Given the description of an element on the screen output the (x, y) to click on. 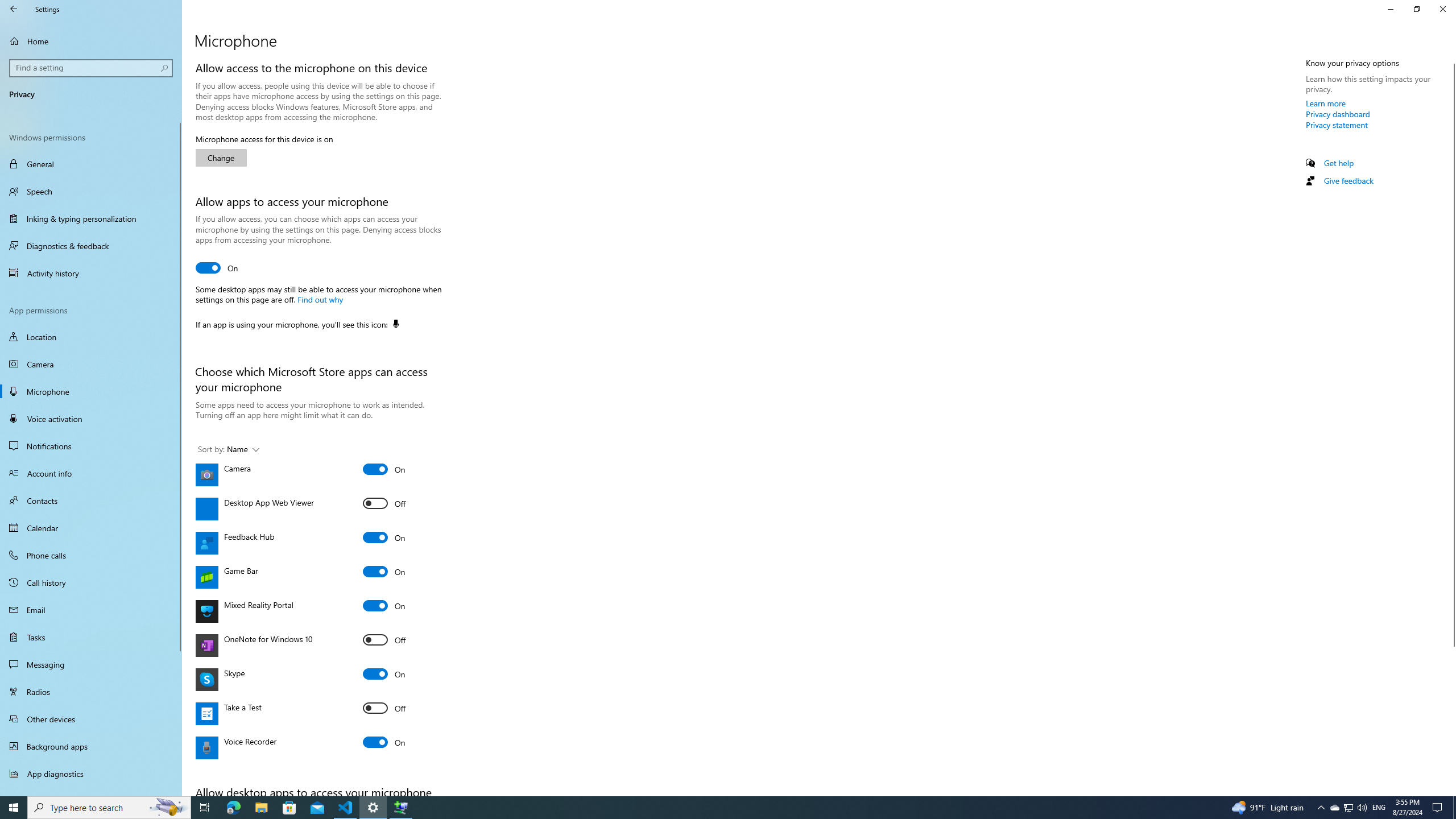
Extensible Wizards Host Process - 1 running window (400, 807)
Vertical (1451, 425)
Activity history (91, 272)
Vertical Small Decrease (1451, 58)
Messaging (91, 664)
Phone calls (91, 554)
Take a Test (384, 707)
